Given the description of an element on the screen output the (x, y) to click on. 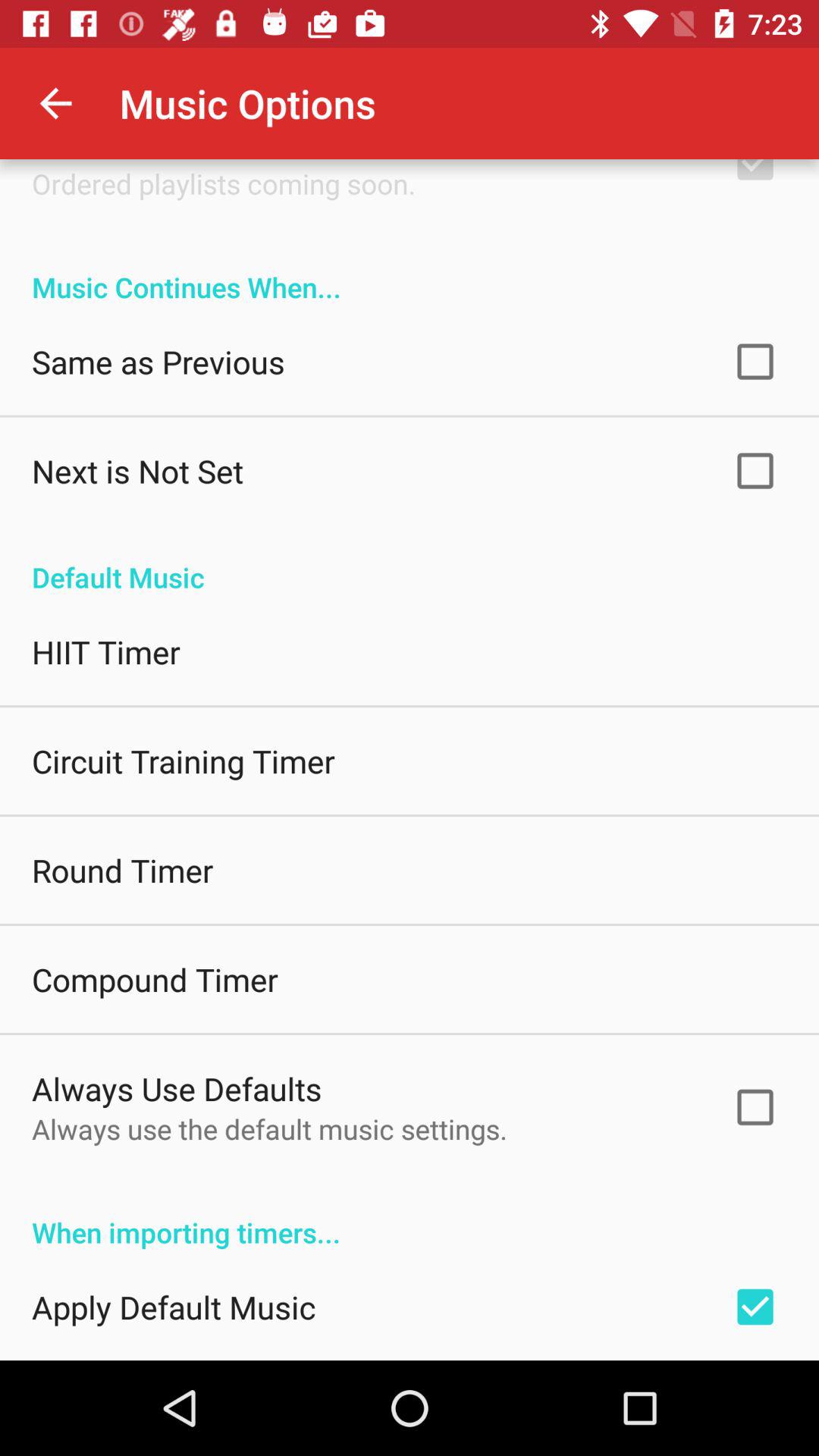
click the icon below the hiit timer icon (182, 760)
